Given the description of an element on the screen output the (x, y) to click on. 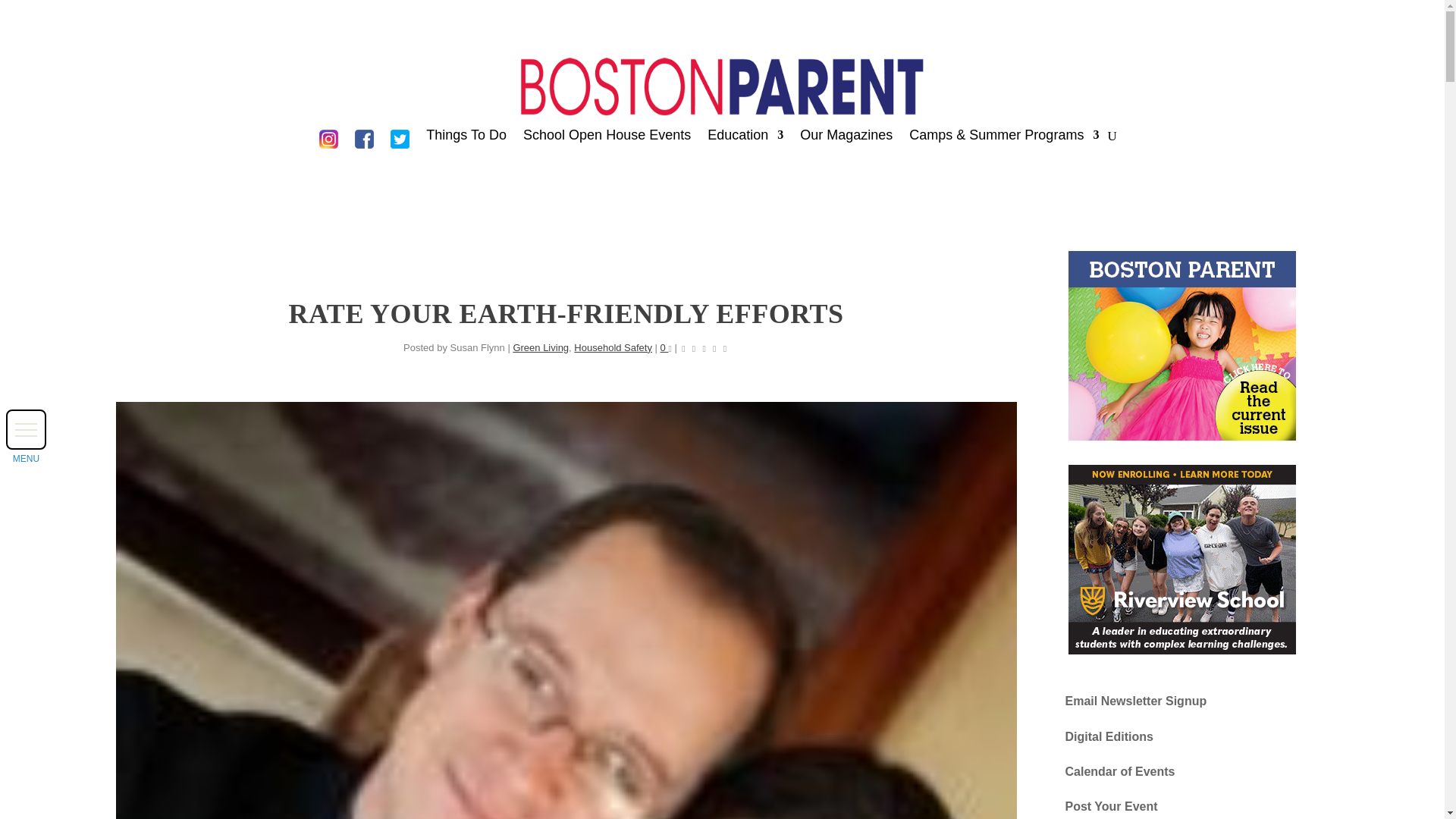
Posts by Susan Flynn (477, 347)
Education (745, 142)
Boston-Parent-Paper-Logo-699 (721, 86)
Rating: 0.00 (704, 347)
Our Magazines (845, 142)
School Open House Events (606, 142)
Things To Do (466, 142)
